Given the description of an element on the screen output the (x, y) to click on. 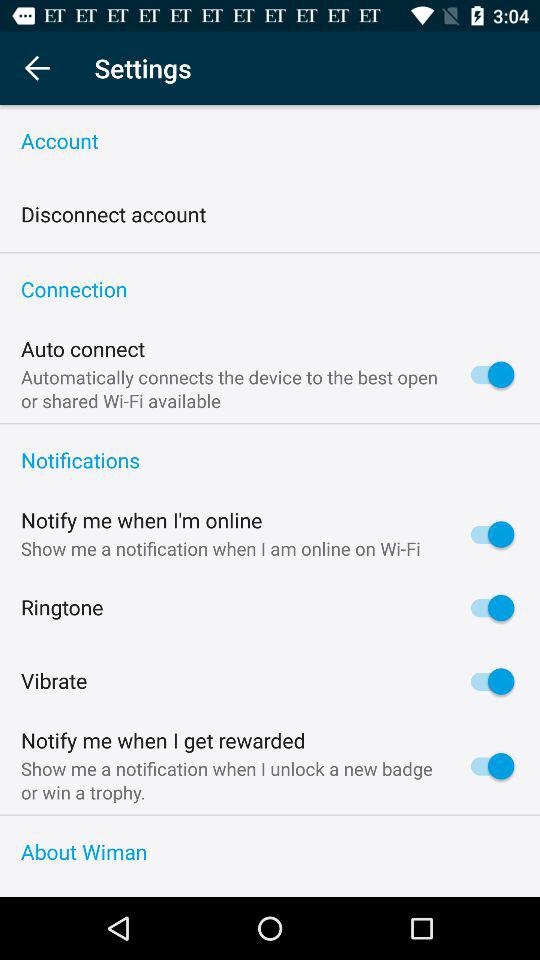
go to previous (36, 68)
